Given the description of an element on the screen output the (x, y) to click on. 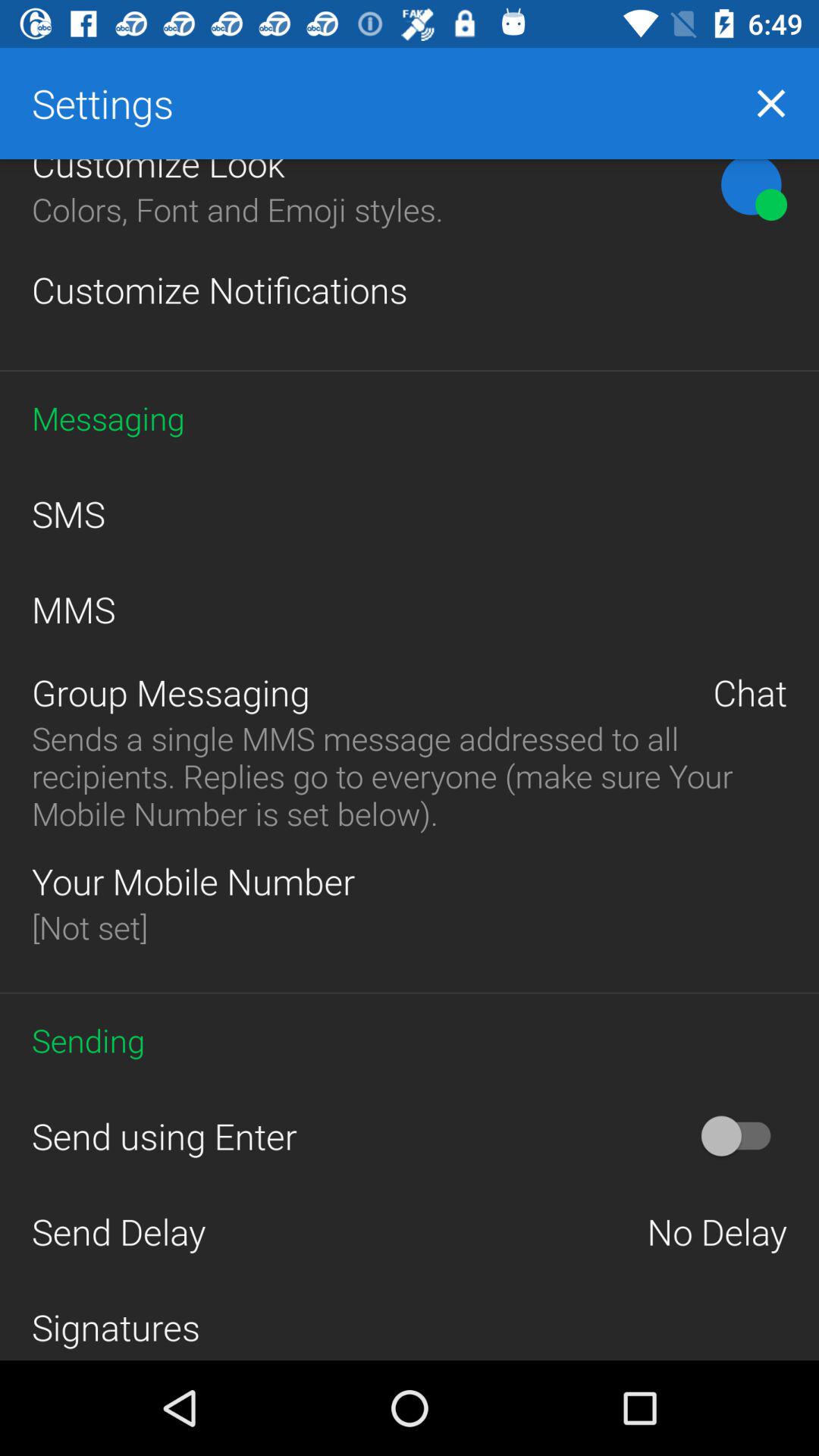
turn off the icon next to settings icon (771, 103)
